Given the description of an element on the screen output the (x, y) to click on. 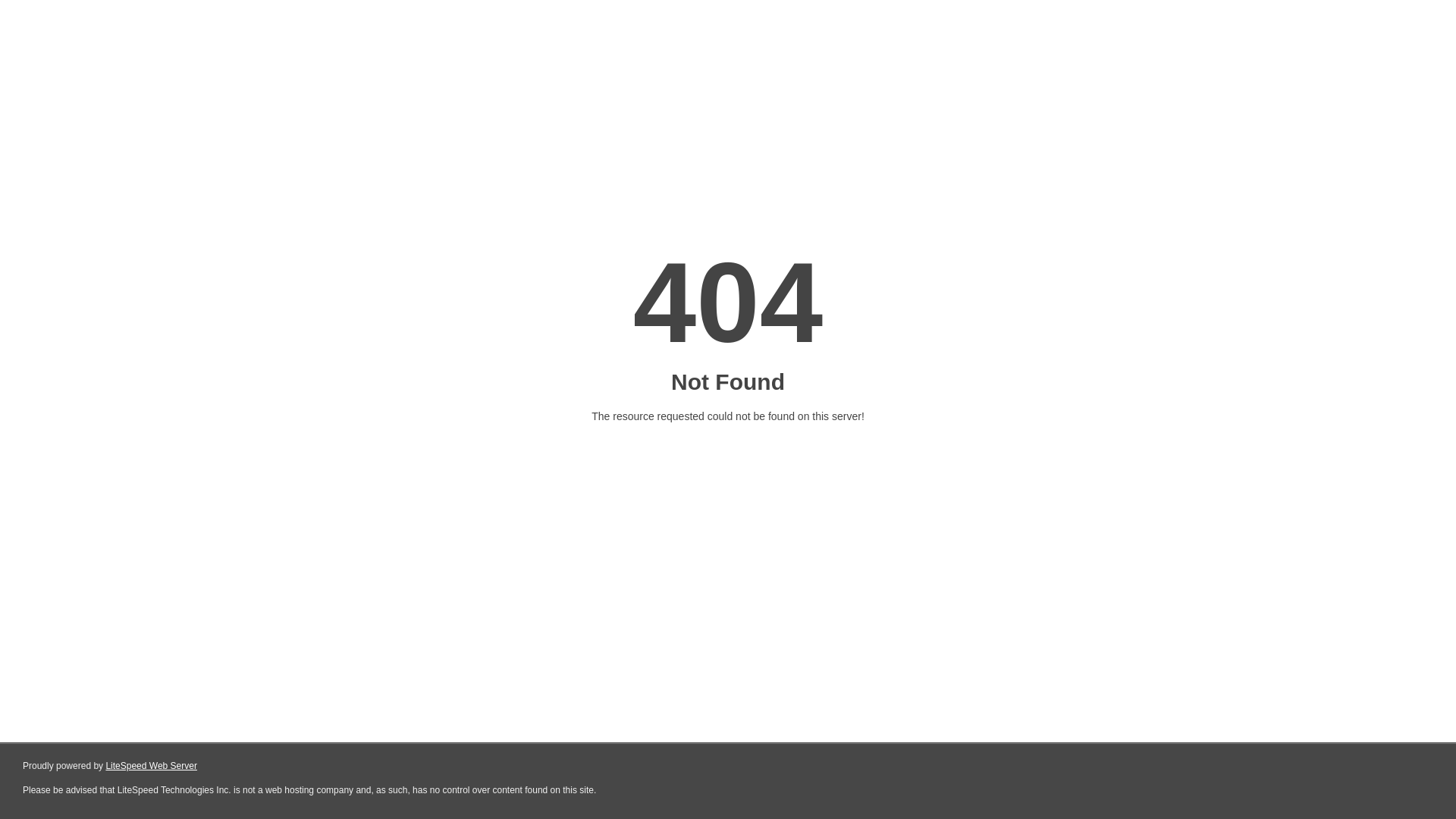
LiteSpeed Web Server (150, 765)
